Given the description of an element on the screen output the (x, y) to click on. 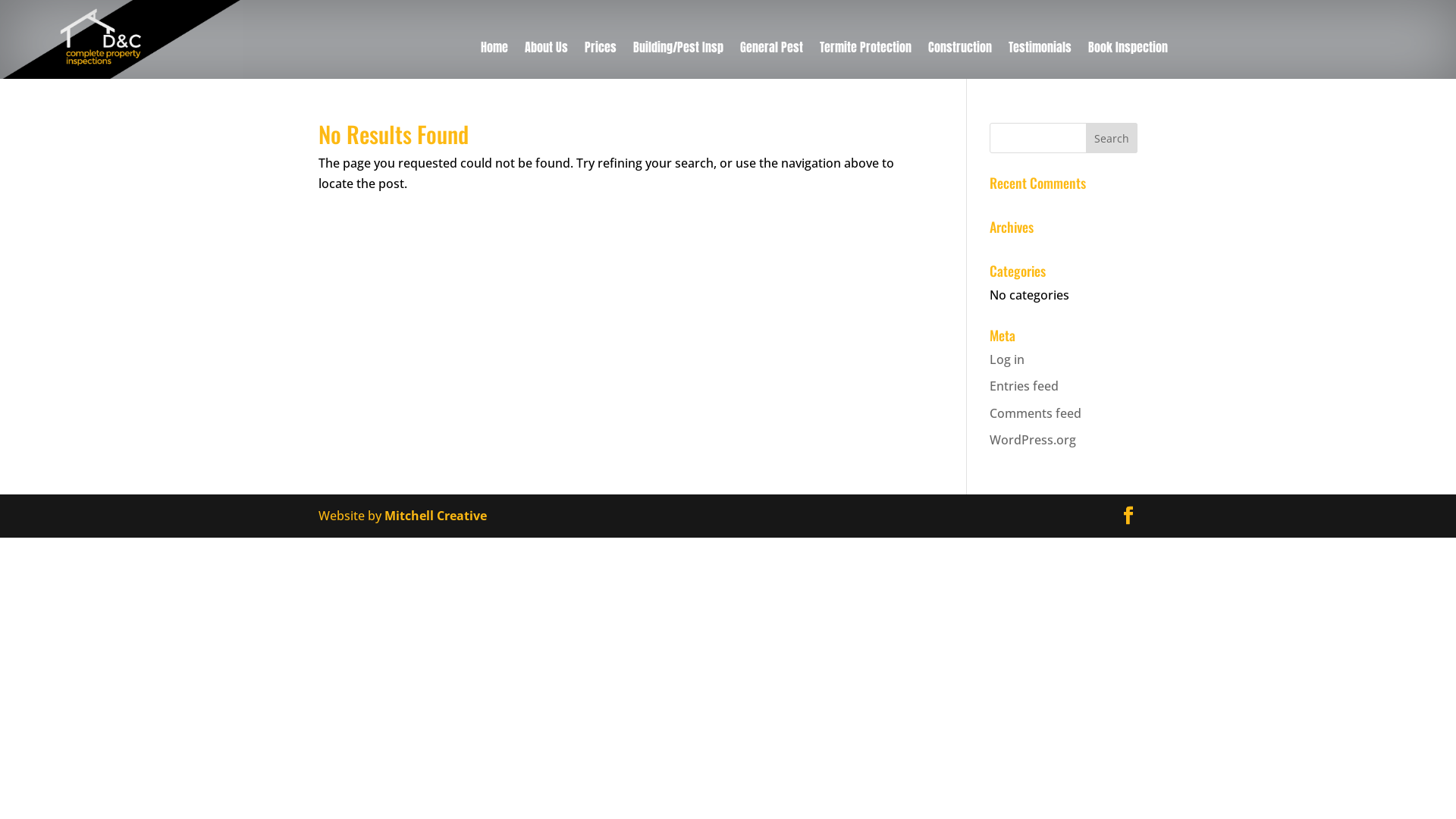
Search Element type: text (1111, 137)
Book Inspection Element type: text (1127, 49)
Mitchell Creative Element type: text (435, 515)
WordPress.org Element type: text (1032, 439)
Log in Element type: text (1006, 359)
Building/Pest Insp Element type: text (678, 49)
Prices Element type: text (600, 49)
Construction Element type: text (959, 49)
Testimonials Element type: text (1039, 49)
Comments feed Element type: text (1035, 412)
General Pest Element type: text (771, 49)
Home Element type: text (494, 49)
Termite Protection Element type: text (865, 49)
About Us Element type: text (545, 49)
Entries feed Element type: text (1023, 385)
